Given the description of an element on the screen output the (x, y) to click on. 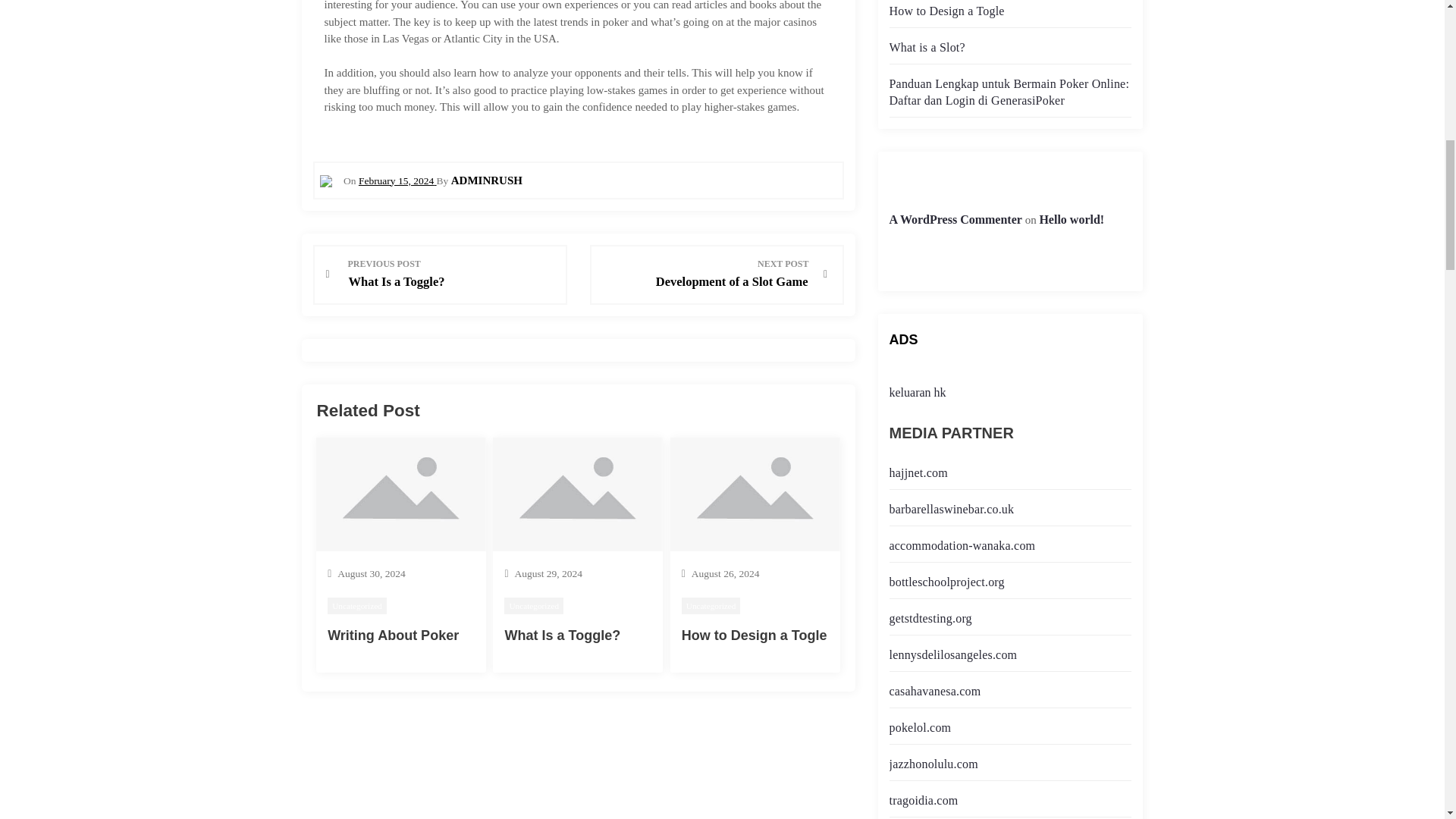
Writing About Poker (392, 635)
Uncategorized (533, 606)
What is a Slot? (925, 47)
keluaran hk (916, 391)
February 15, 2024 (397, 179)
ADMINRUSH (486, 180)
A WordPress Commenter (705, 273)
Uncategorized (955, 219)
Hello world! (357, 606)
